Given the description of an element on the screen output the (x, y) to click on. 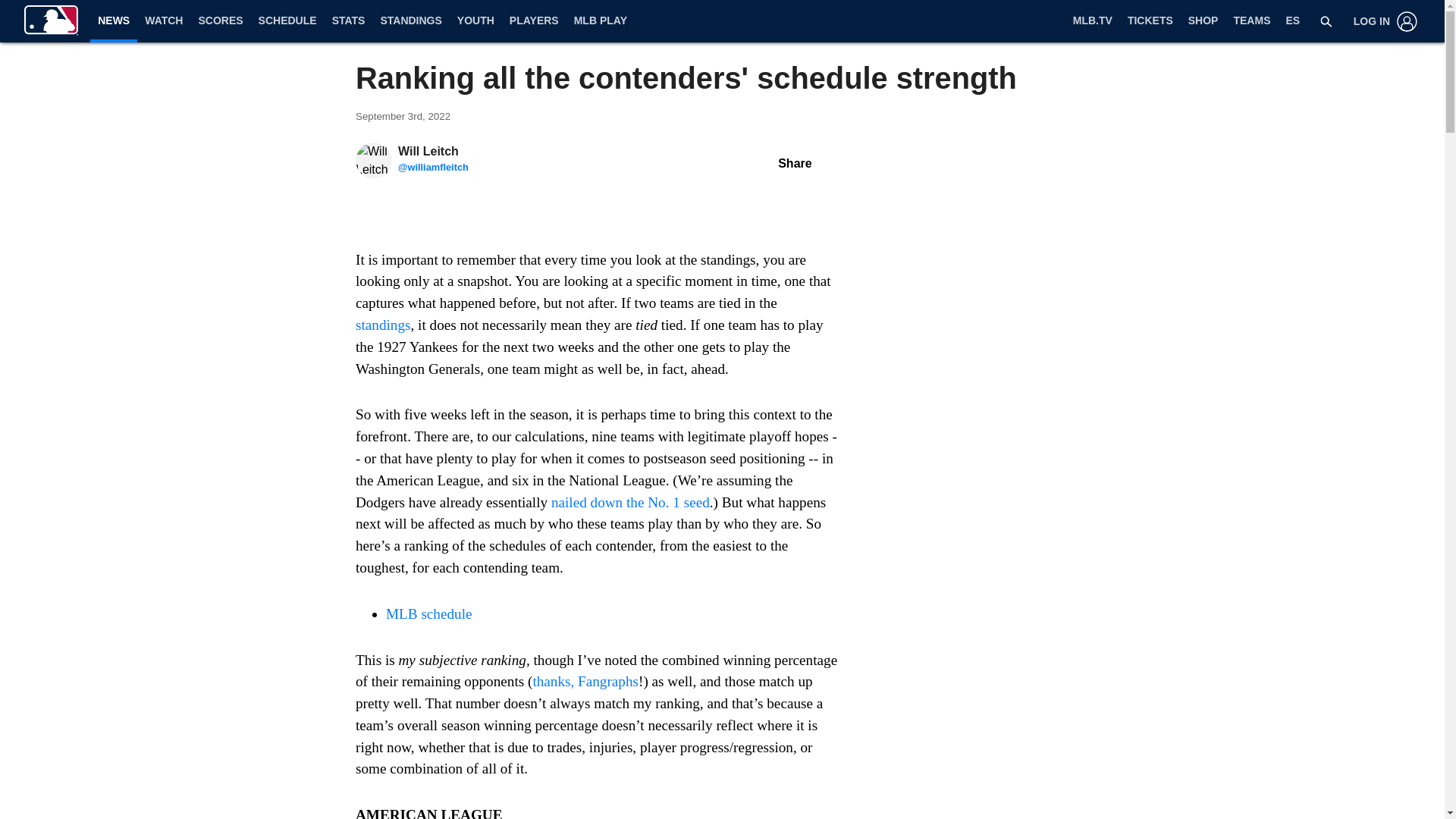
NEWS (113, 19)
search-49258 (1326, 21)
STATS (348, 21)
STANDINGS (410, 21)
SCORES (220, 21)
SCHEDULE (287, 21)
WATCH (163, 21)
